Given the description of an element on the screen output the (x, y) to click on. 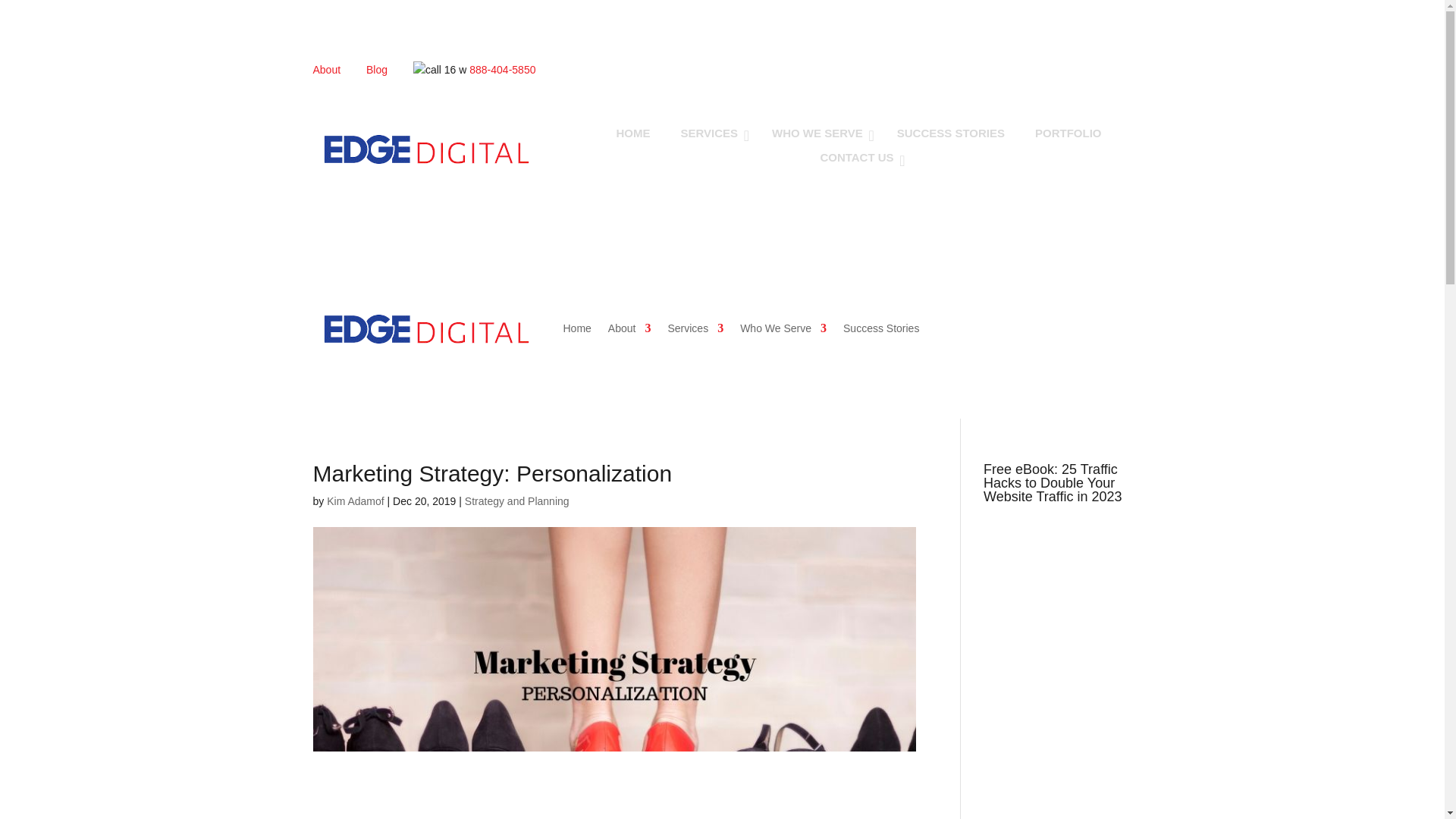
WHO WE SERVE (819, 132)
SUCCESS STORIES (951, 132)
CONTACT US (858, 156)
SERVICES (711, 132)
PORTFOLIO (1068, 132)
Services (694, 328)
Blog (388, 69)
Posts by Kim Adamof (355, 502)
888-404-5850 (501, 69)
